Given the description of an element on the screen output the (x, y) to click on. 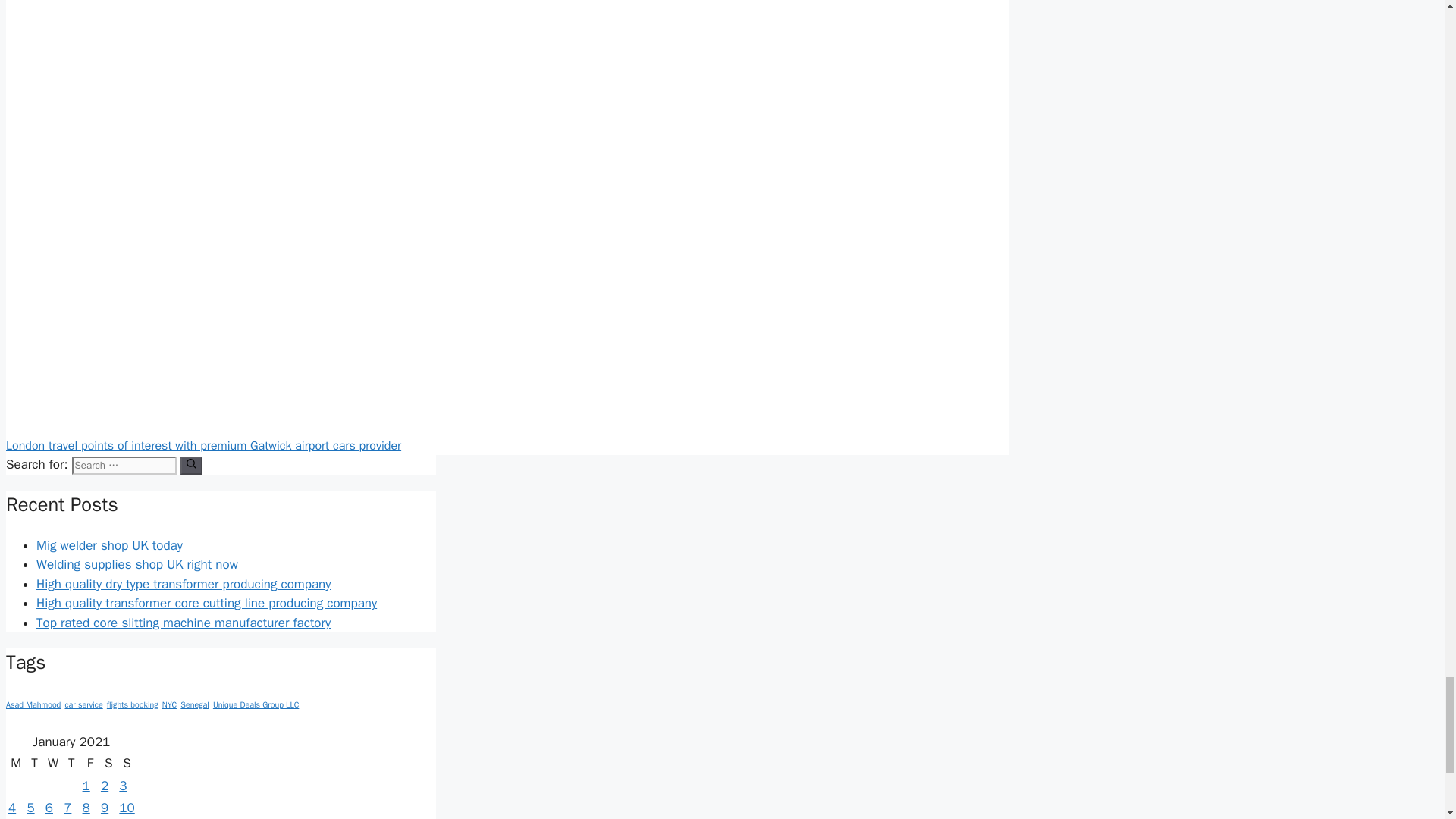
Top rated core slitting machine manufacturer factory (183, 622)
Next (203, 445)
Mig welder shop UK today (109, 545)
NYC (169, 705)
High quality transformer core cutting line producing company (206, 602)
Search for: (123, 465)
Unique Deals Group LLC (255, 705)
Asad Mahmood (33, 705)
Welding supplies shop UK right now (137, 564)
car service (82, 705)
High quality dry type transformer producing company (183, 584)
flights booking (132, 705)
Senegal (194, 705)
